Given the description of an element on the screen output the (x, y) to click on. 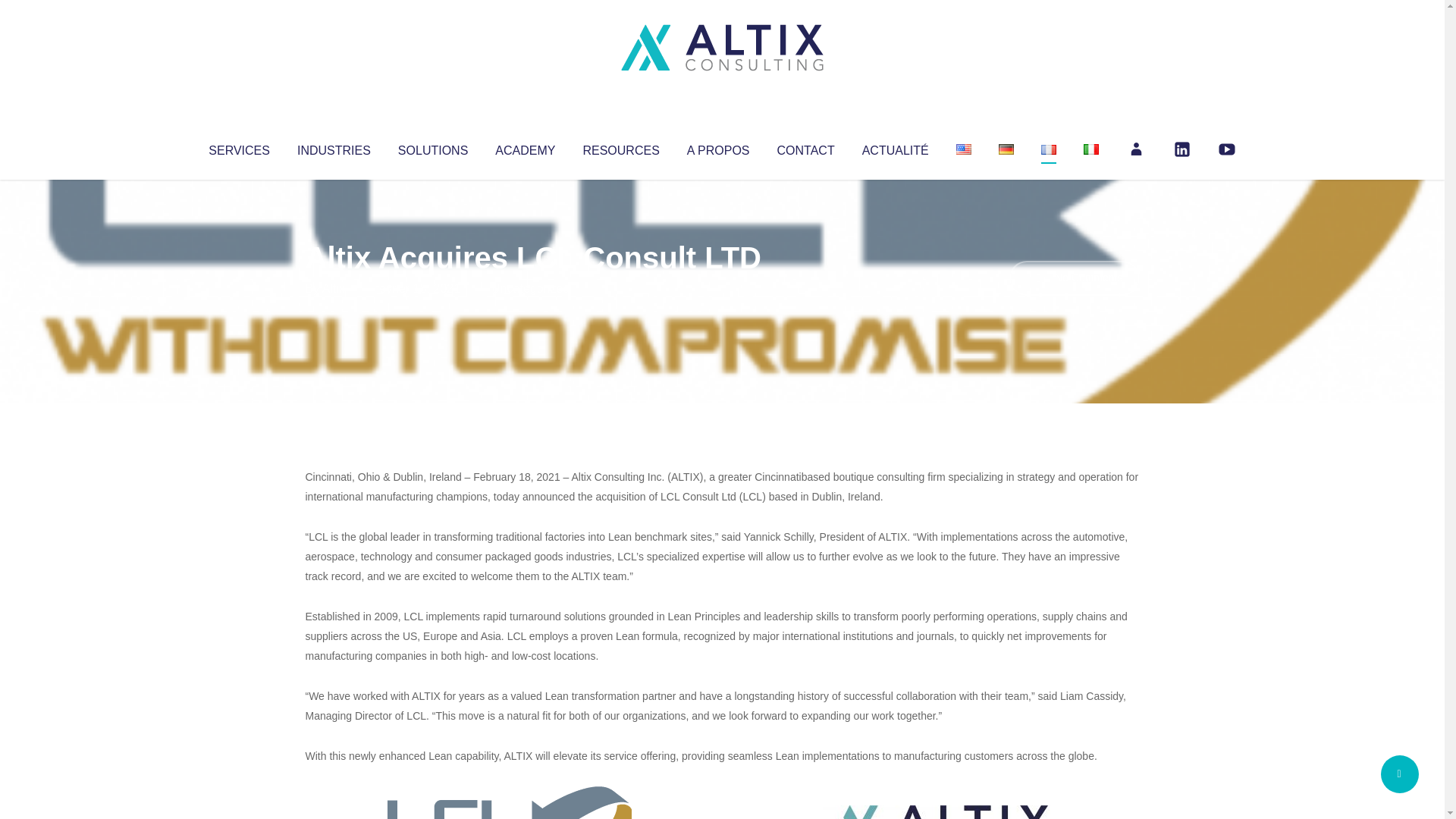
Articles par Altix (333, 287)
Altix (333, 287)
A PROPOS (718, 146)
Uncategorized (530, 287)
SOLUTIONS (432, 146)
SERVICES (238, 146)
RESOURCES (620, 146)
ACADEMY (524, 146)
INDUSTRIES (334, 146)
No Comments (1073, 278)
